Given the description of an element on the screen output the (x, y) to click on. 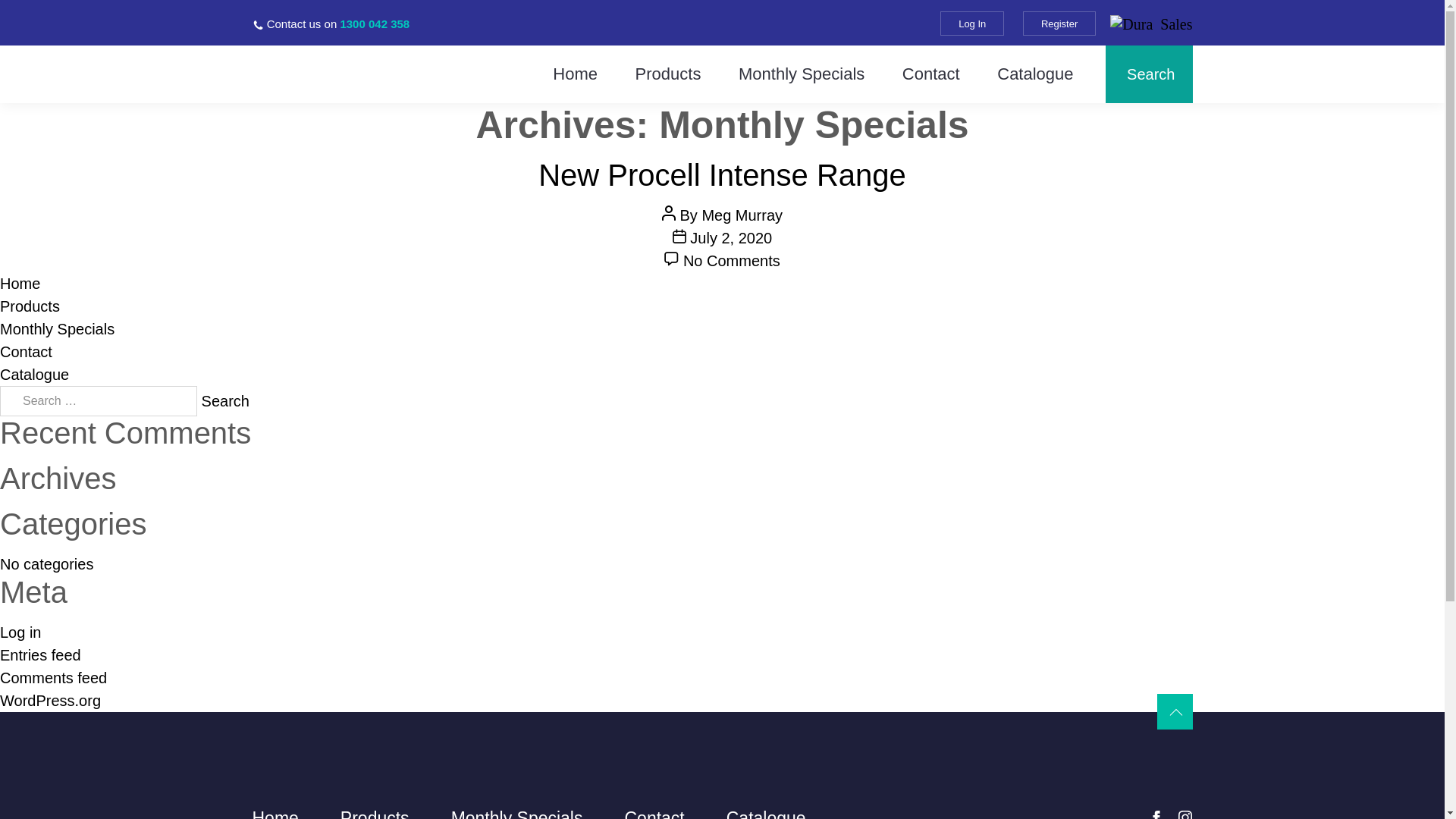
Catalogue Element type: text (34, 374)
Contact Element type: text (26, 351)
New Procell Intense Range Element type: text (722, 174)
Monthly Specials Element type: text (57, 328)
Monthly Specials Element type: text (801, 74)
Entries feed Element type: text (40, 654)
Register Element type: text (1058, 23)
Log In Element type: text (972, 23)
No Comments
on New Procell Intense Range Element type: text (731, 260)
Home Element type: text (574, 74)
Catalogue Element type: text (1035, 74)
Products Element type: text (29, 306)
Contact Element type: text (931, 74)
July 2, 2020 Element type: text (730, 237)
WordPress.org Element type: text (50, 700)
Home Element type: text (20, 283)
Meg Murray Element type: text (741, 215)
Comments feed Element type: text (53, 677)
Search Element type: text (225, 400)
Log in Element type: text (20, 632)
Products Element type: text (668, 74)
1300 042 358 Element type: text (374, 23)
